Given the description of an element on the screen output the (x, y) to click on. 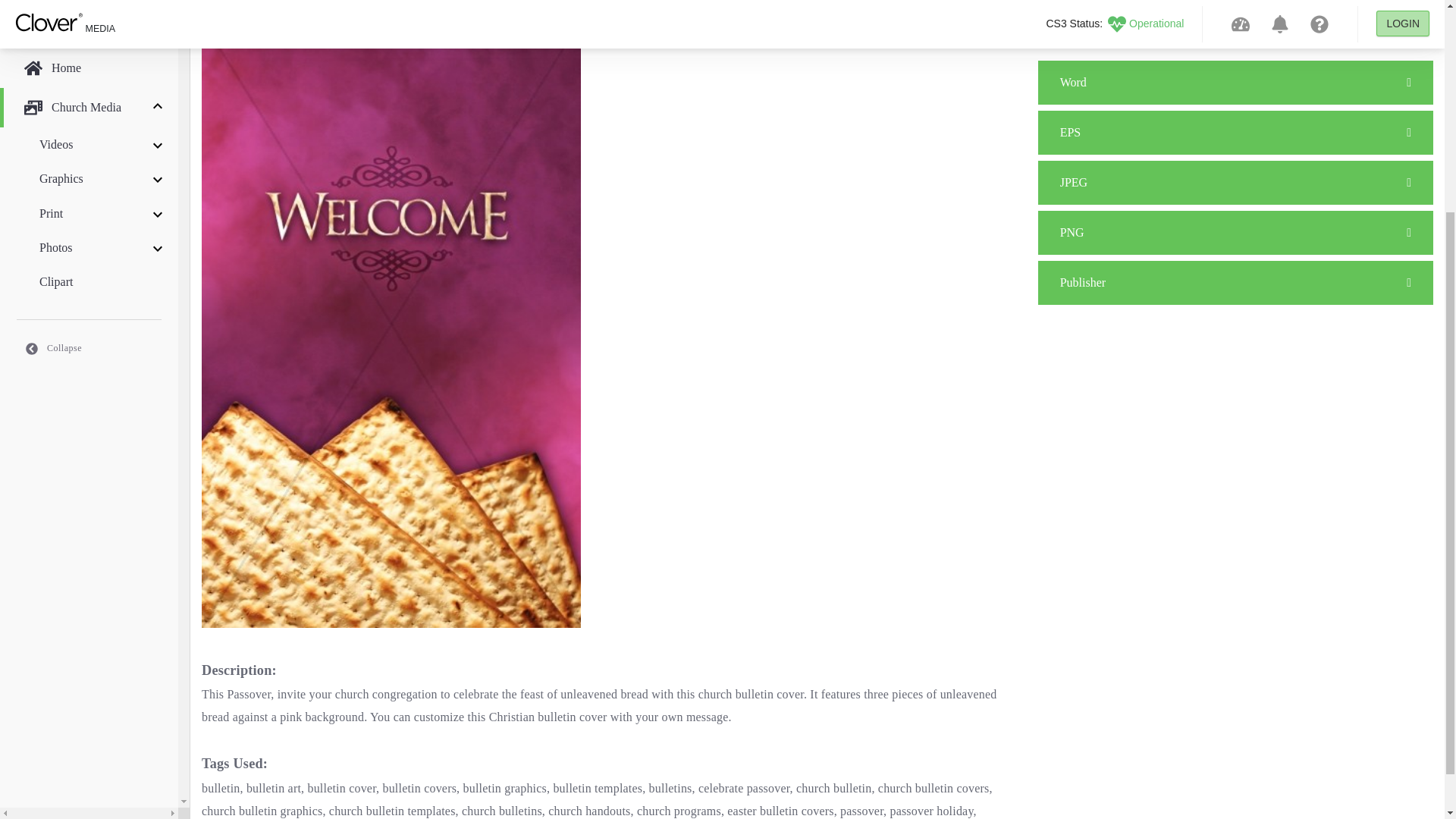
Purchase (1235, 232)
Clipart (88, 2)
Collapse (88, 55)
Purchase (1235, 82)
Purchase (1235, 132)
Purchase (1235, 282)
Purchase (1235, 182)
